Given the description of an element on the screen output the (x, y) to click on. 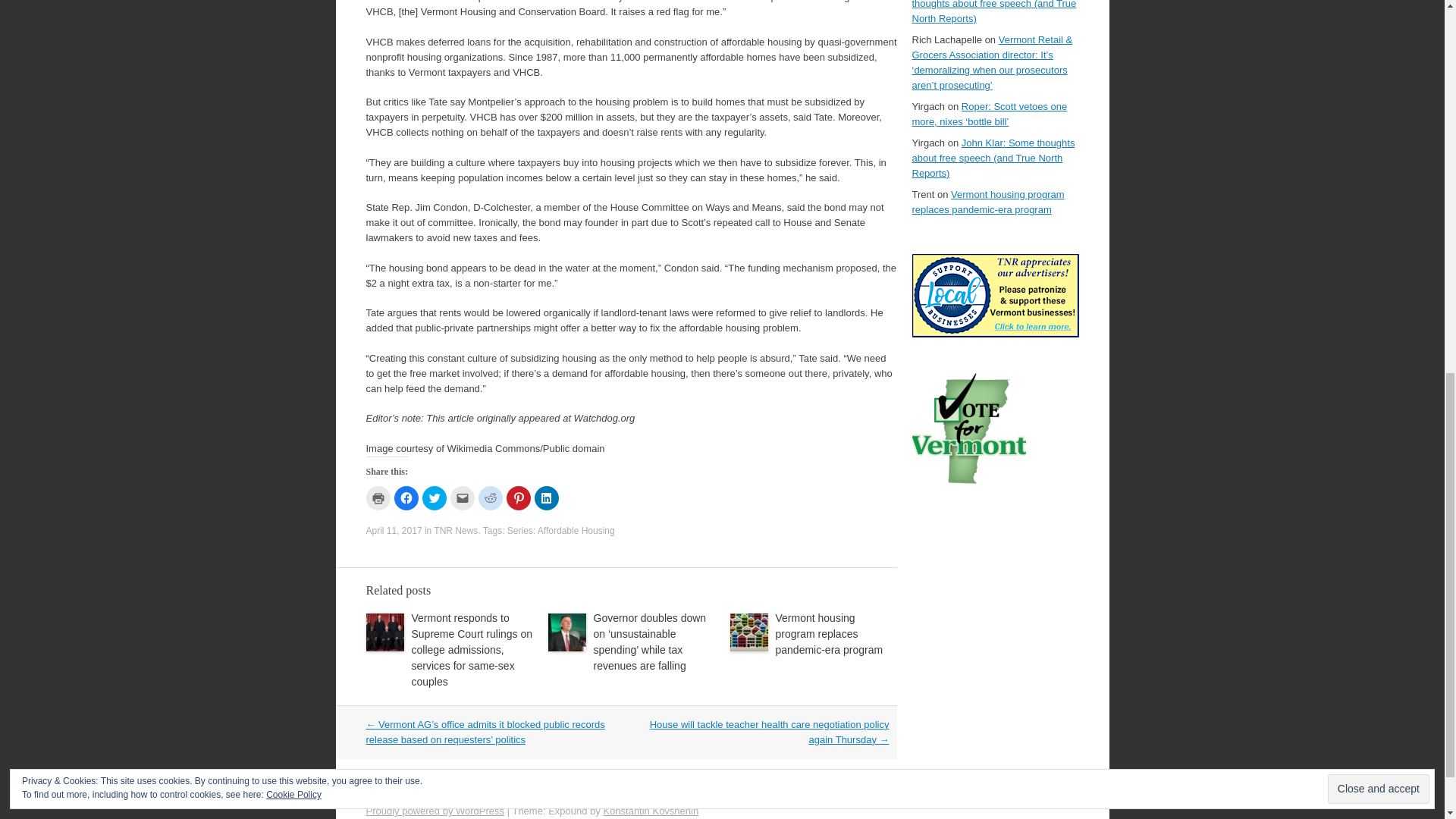
Click to share on Facebook (406, 498)
Click to share on Twitter (433, 498)
Click to share on LinkedIn (545, 498)
Support our advertisers! (994, 333)
Click to print (377, 498)
Close and accept (1378, 55)
Click to share on Reddit (489, 498)
Click to share on Pinterest (518, 498)
